Given the description of an element on the screen output the (x, y) to click on. 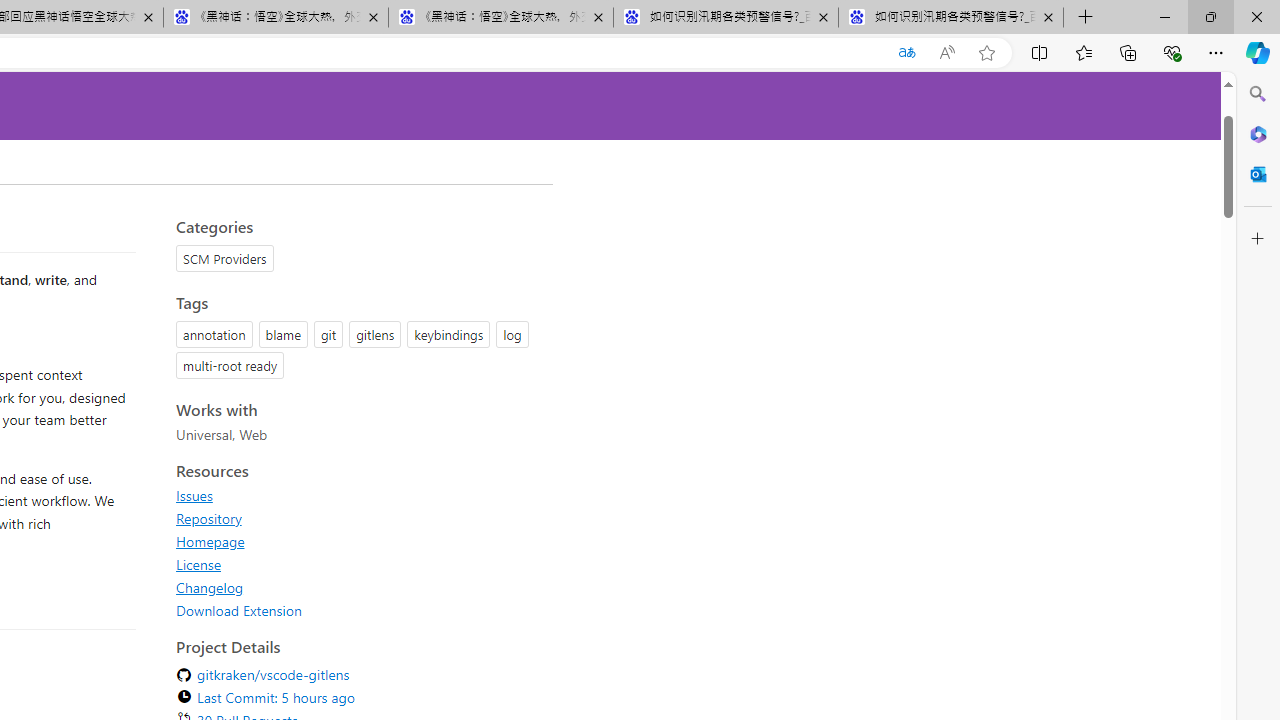
Issues (358, 495)
Download Extension (239, 610)
Changelog (358, 587)
